Given the description of an element on the screen output the (x, y) to click on. 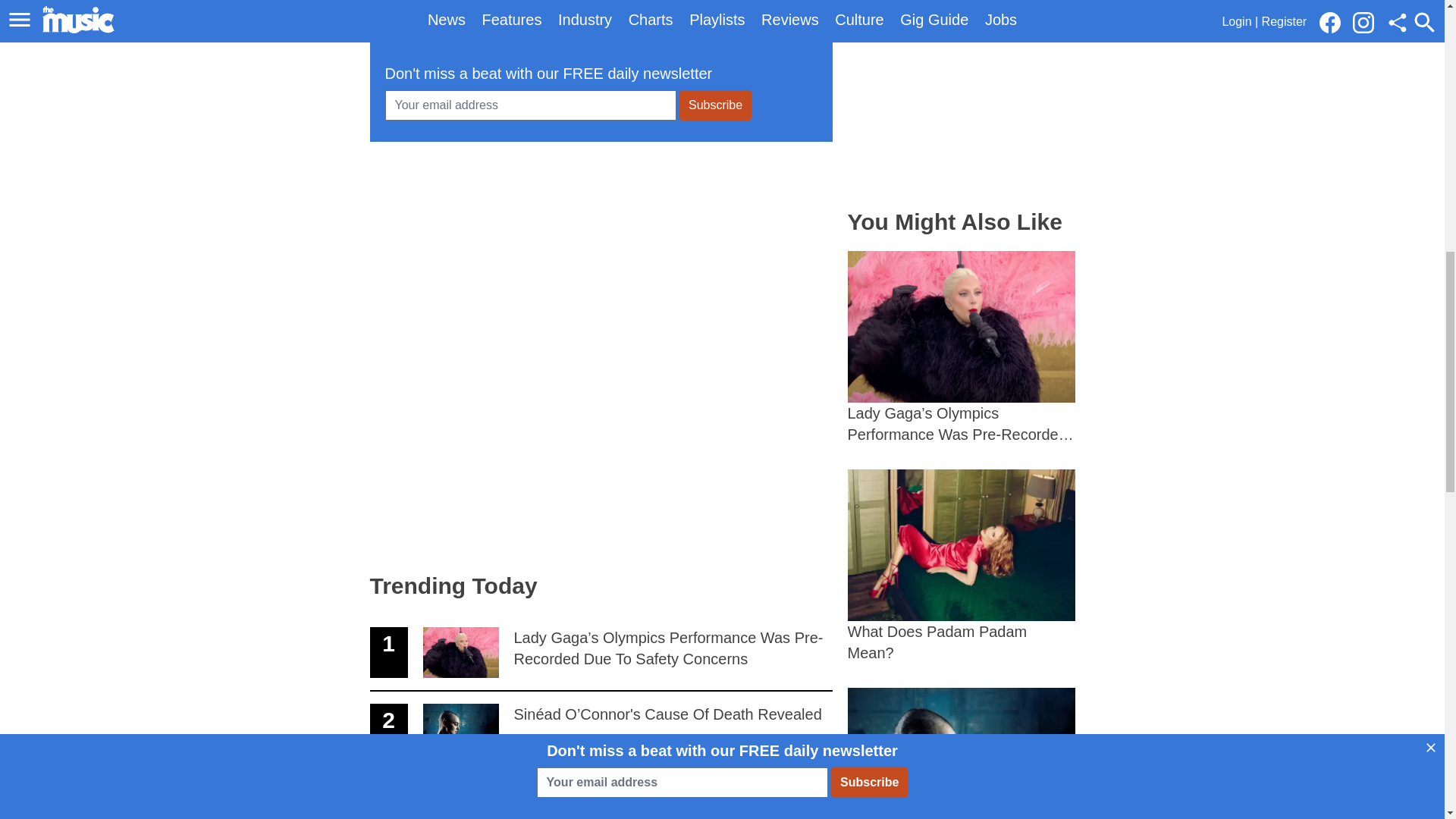
What Does Padam Padam Mean? (961, 566)
3rd party ad content (600, 262)
Subscribe (715, 105)
3rd party ad content (600, 793)
